Given the description of an element on the screen output the (x, y) to click on. 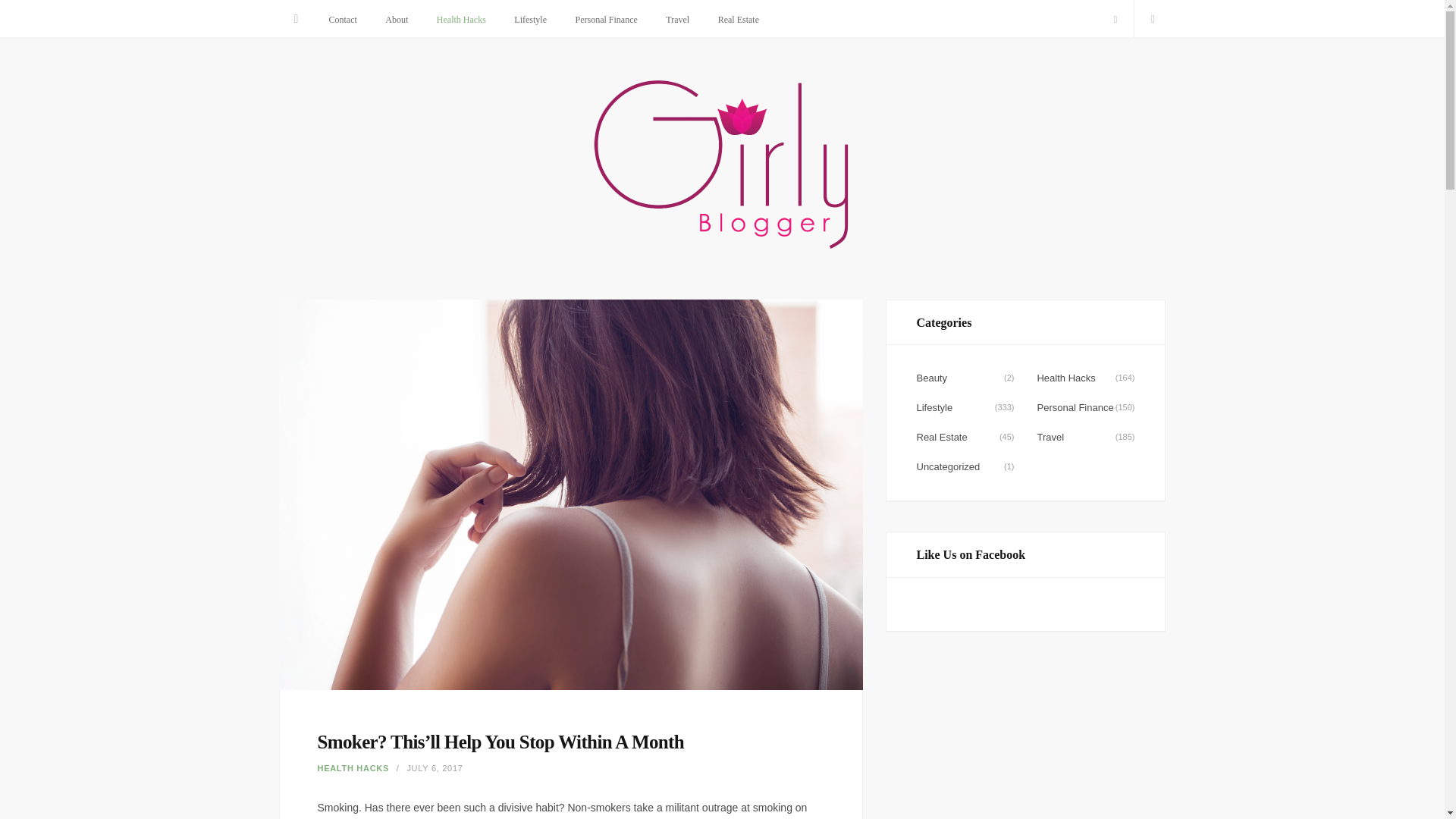
Personal Finance (605, 19)
Contact (342, 19)
Health Hacks (461, 19)
About (396, 19)
Menu (296, 18)
Lifestyle (529, 19)
Travel (676, 19)
Girly Blogger (722, 166)
Real Estate (737, 19)
HEALTH HACKS (352, 767)
